Given the description of an element on the screen output the (x, y) to click on. 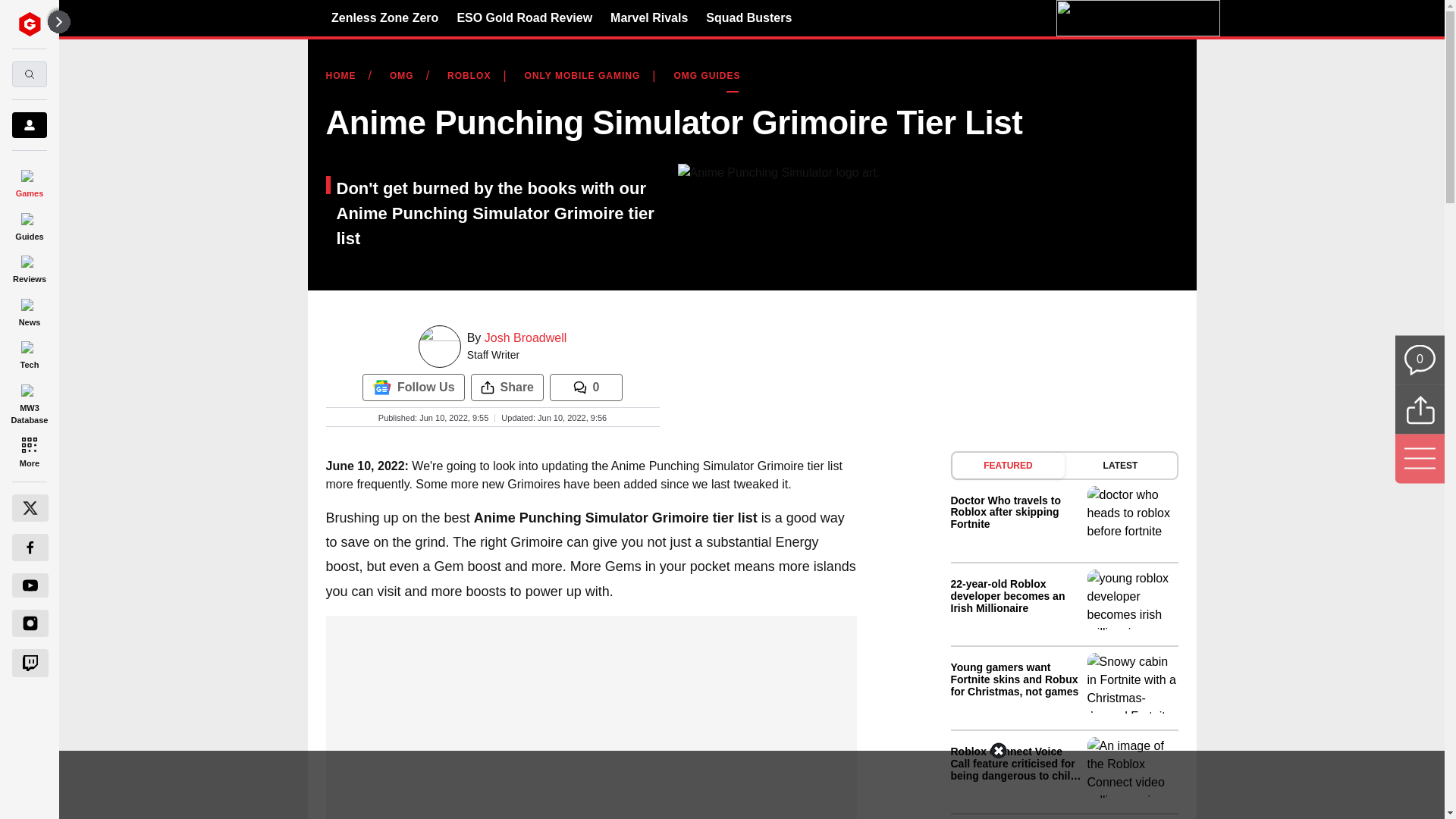
3rd party ad content (721, 785)
News (28, 309)
Squad Busters (749, 18)
Marvel Rivals (648, 18)
ESO Gold Road Review (524, 18)
3rd party ad content (590, 710)
Reviews (28, 266)
Tech (28, 352)
Games (28, 180)
Zenless Zone Zero (384, 18)
Guides (28, 224)
More (28, 450)
